Given the description of an element on the screen output the (x, y) to click on. 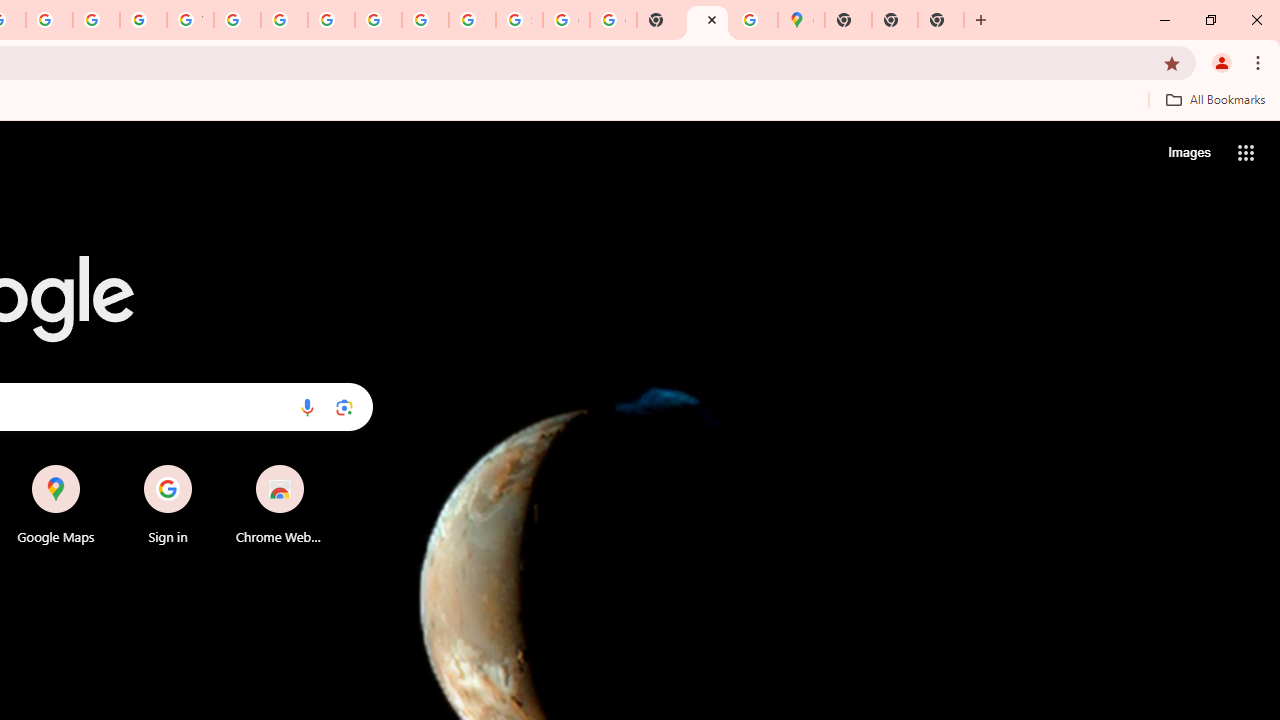
New Tab (706, 20)
New Tab (848, 20)
Google Maps (56, 504)
Chrome Web Store (279, 504)
Google Maps (801, 20)
